Given the description of an element on the screen output the (x, y) to click on. 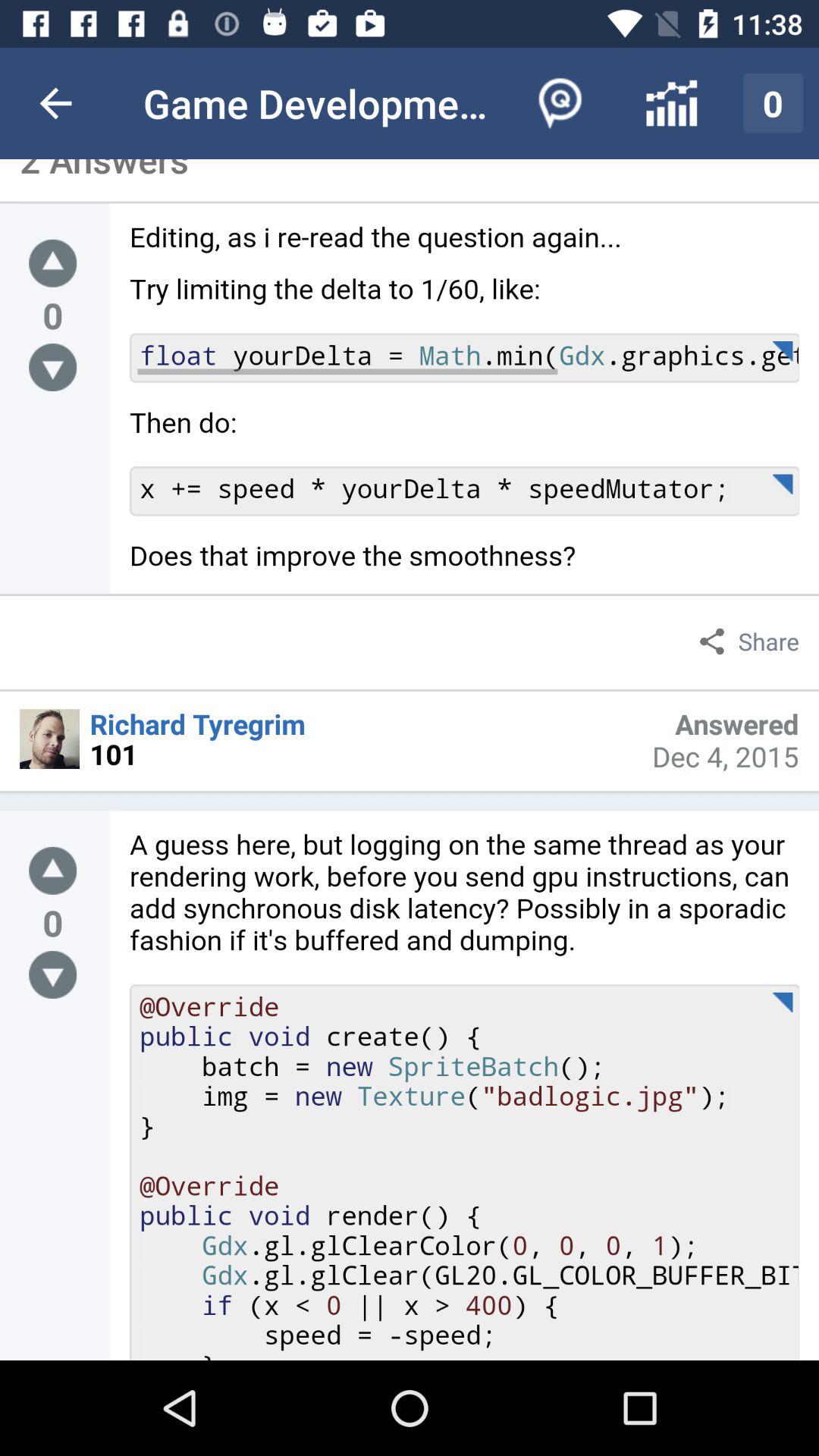
move down (52, 974)
